Given the description of an element on the screen output the (x, y) to click on. 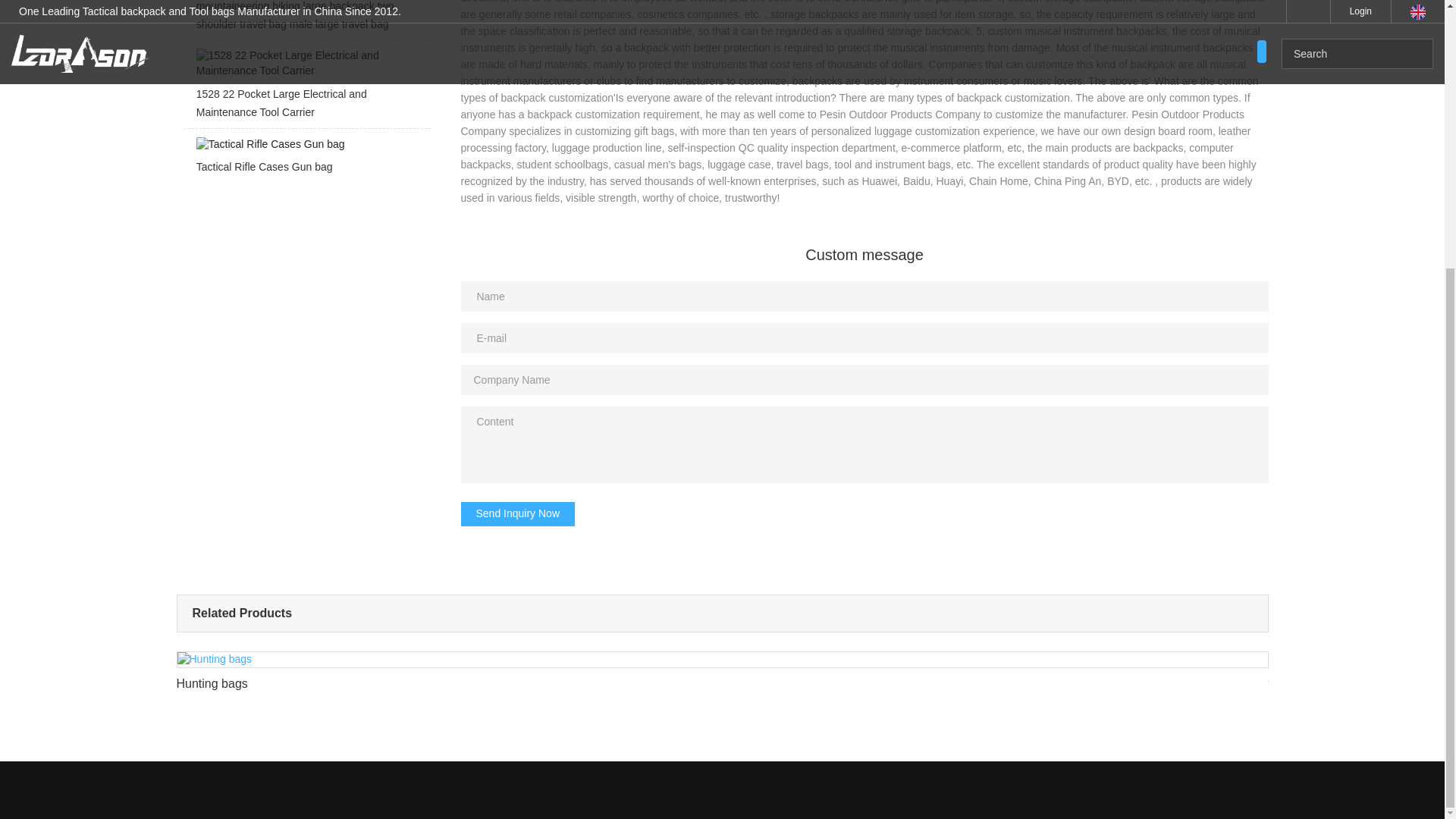
Send Inquiry Now (518, 514)
Hunting bags (722, 676)
1528 22 Pocket Large Electrical and Maintenance Tool Carrier (306, 87)
Tactical Rifle Cases Gun bag (306, 159)
